Given the description of an element on the screen output the (x, y) to click on. 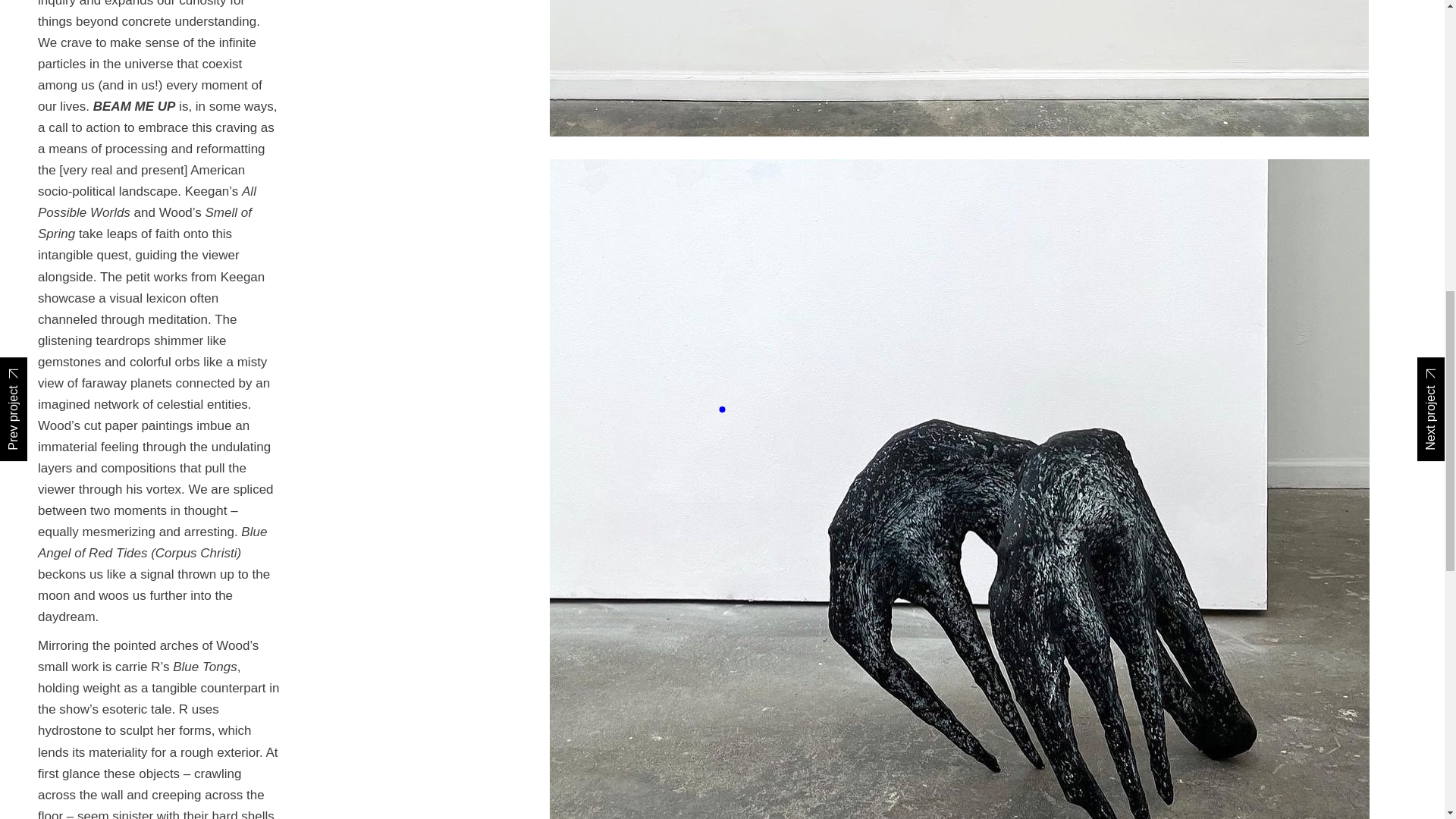
AB7D5A82-9FC1-4547-B158-FC5822597626 (978, 68)
